Given the description of an element on the screen output the (x, y) to click on. 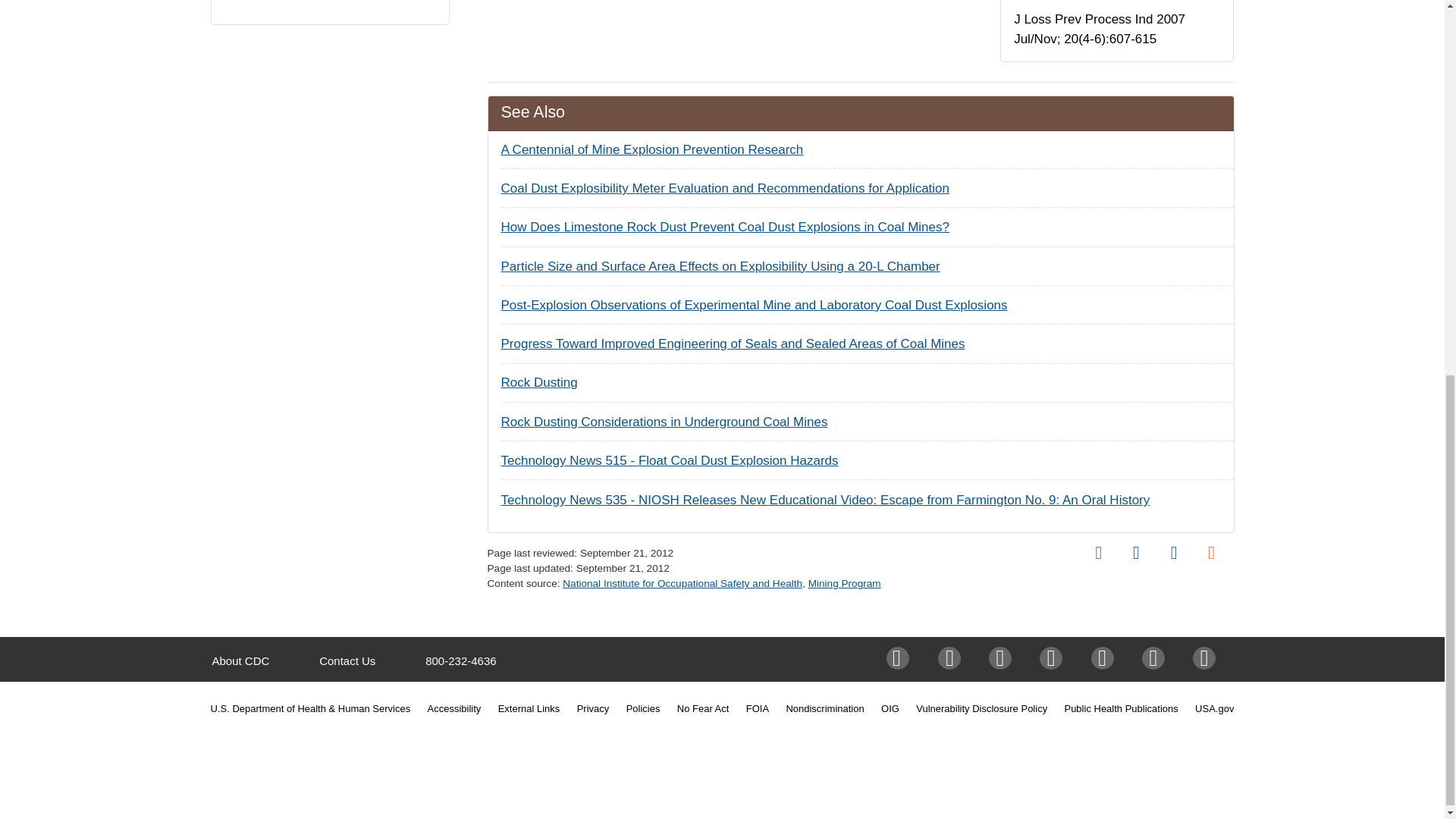
Mining Program (844, 583)
A Centennial of Mine Explosion Prevention Research (651, 149)
Rock Dusting (538, 382)
National Institute for Occupational Safety and Health (682, 583)
Rock Dusting Considerations in Underground Coal Mines (663, 421)
